Given the description of an element on the screen output the (x, y) to click on. 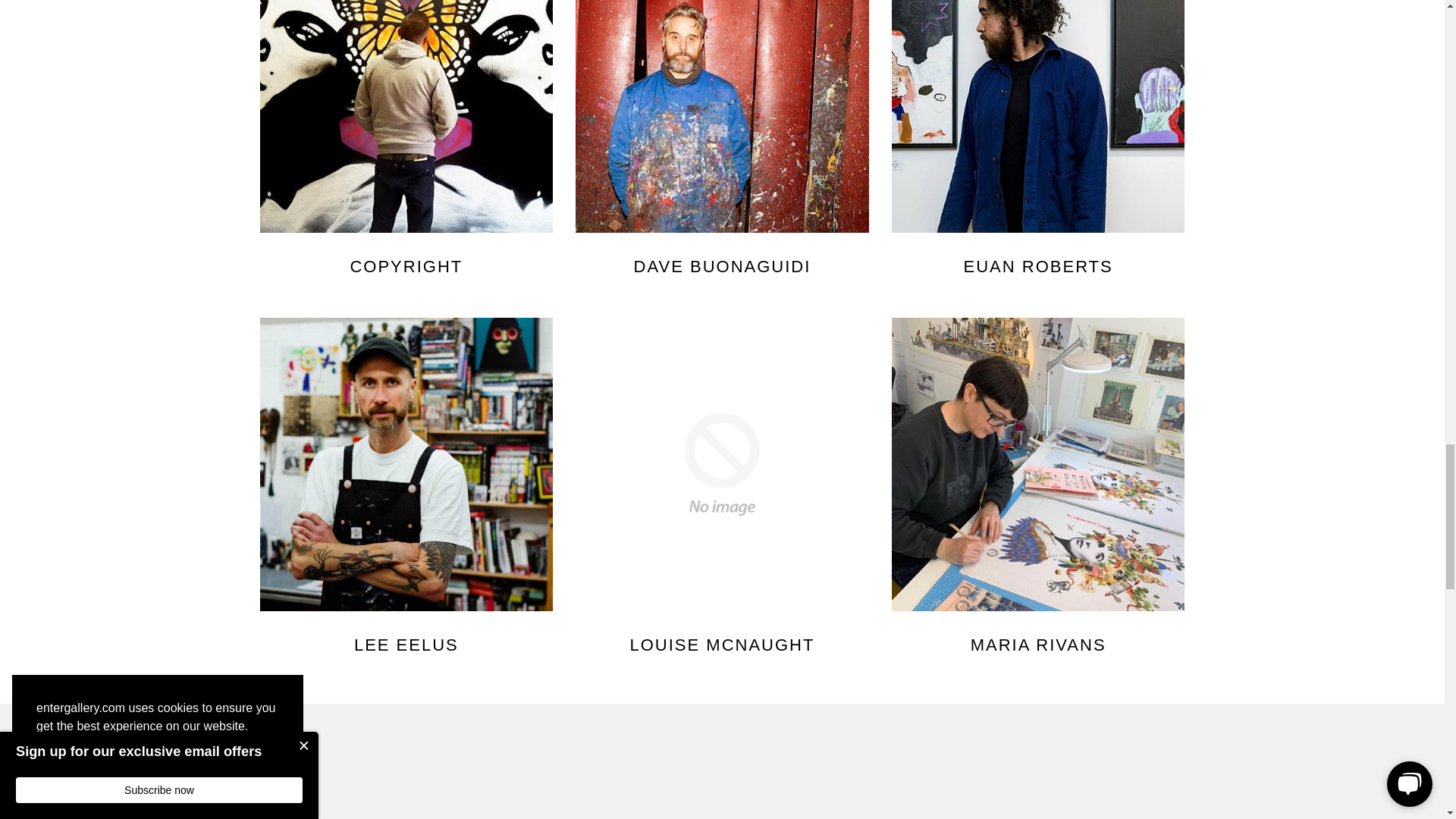
Browse our Lee Eelus collection (406, 463)
Browse our Maria Rivans collection (1038, 463)
Browse our Louise McNaught collection (722, 463)
Browse our Euan Roberts collection (1038, 116)
Browse our Copyright collection (406, 116)
Browse our Dave Buonaguidi collection (722, 116)
